Given the description of an element on the screen output the (x, y) to click on. 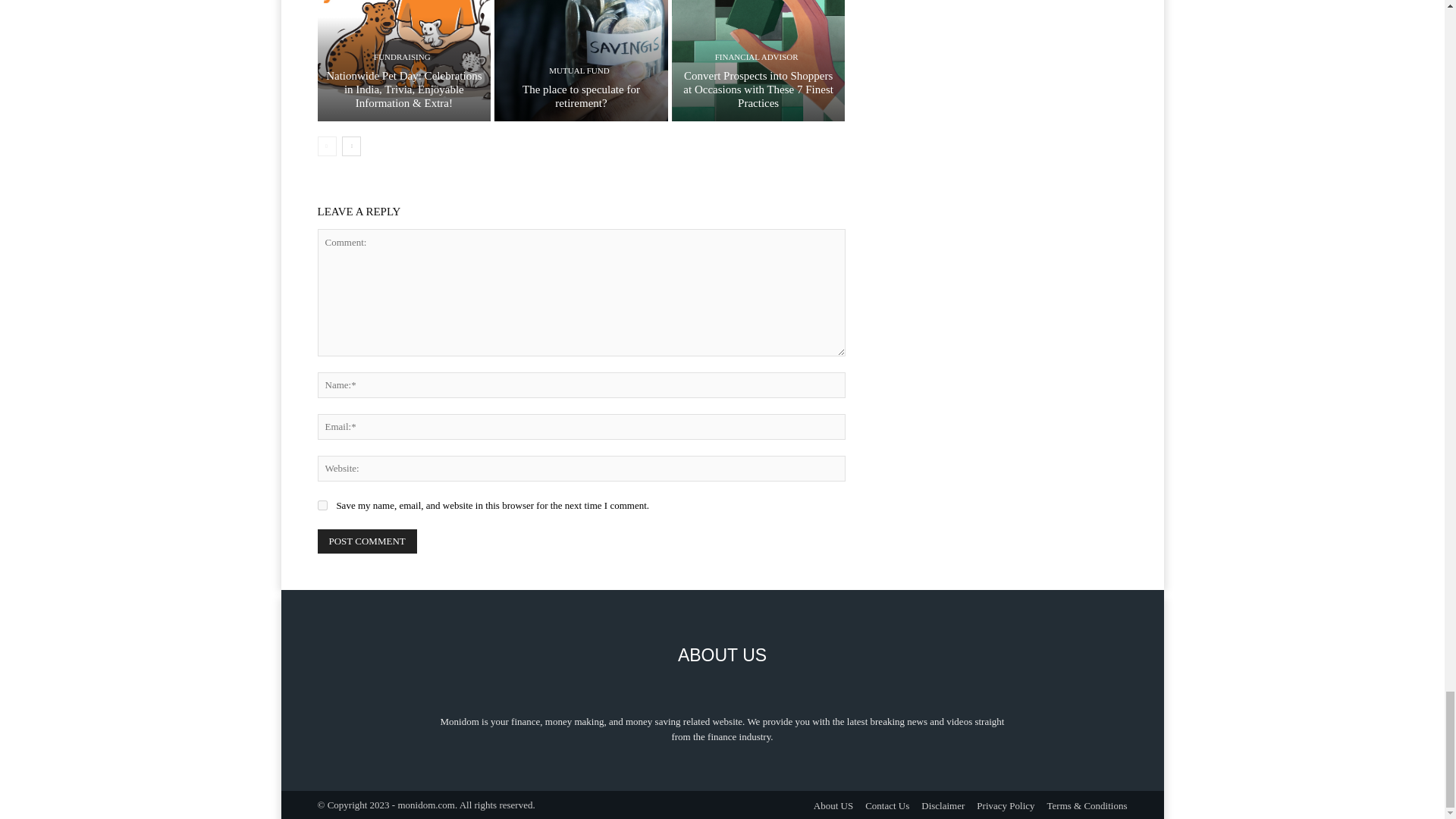
yes (321, 505)
Post Comment (366, 541)
